Given the description of an element on the screen output the (x, y) to click on. 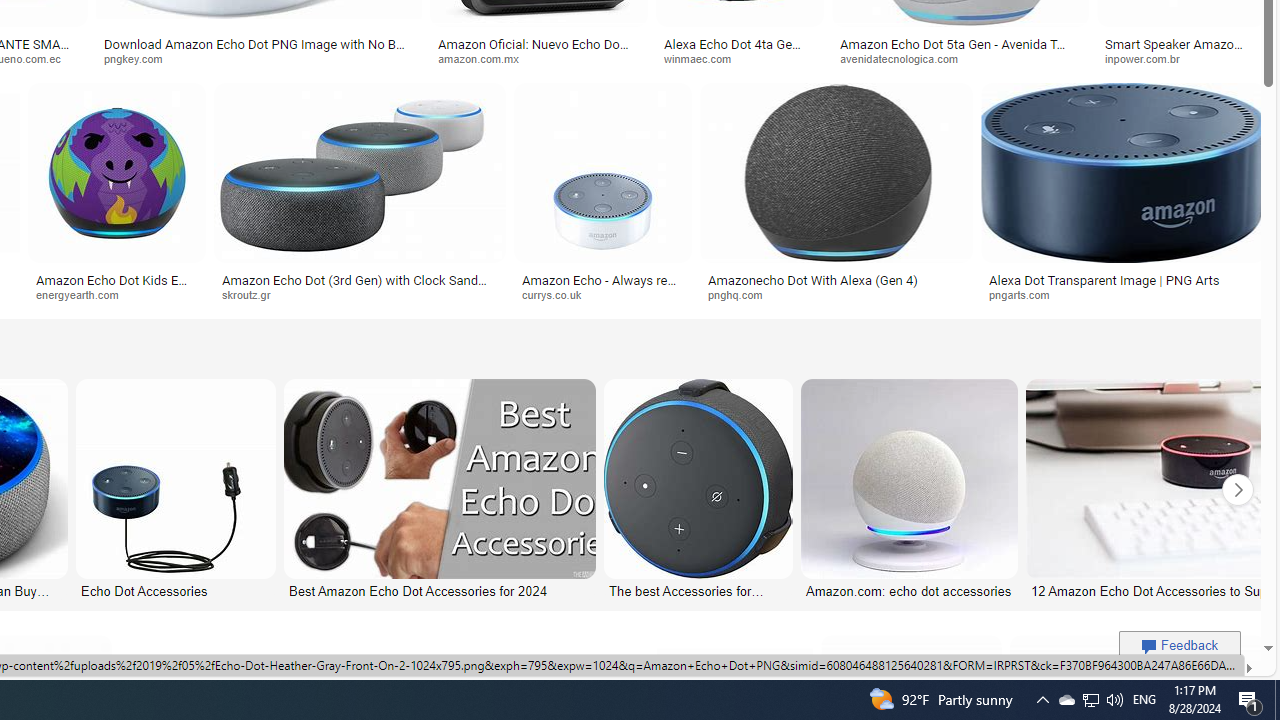
energyearth.com (116, 295)
amazon.com.mx (484, 57)
avenidatecnologica.com (905, 57)
inpower.com.br (1181, 58)
currys.co.uk (559, 294)
